Given the description of an element on the screen output the (x, y) to click on. 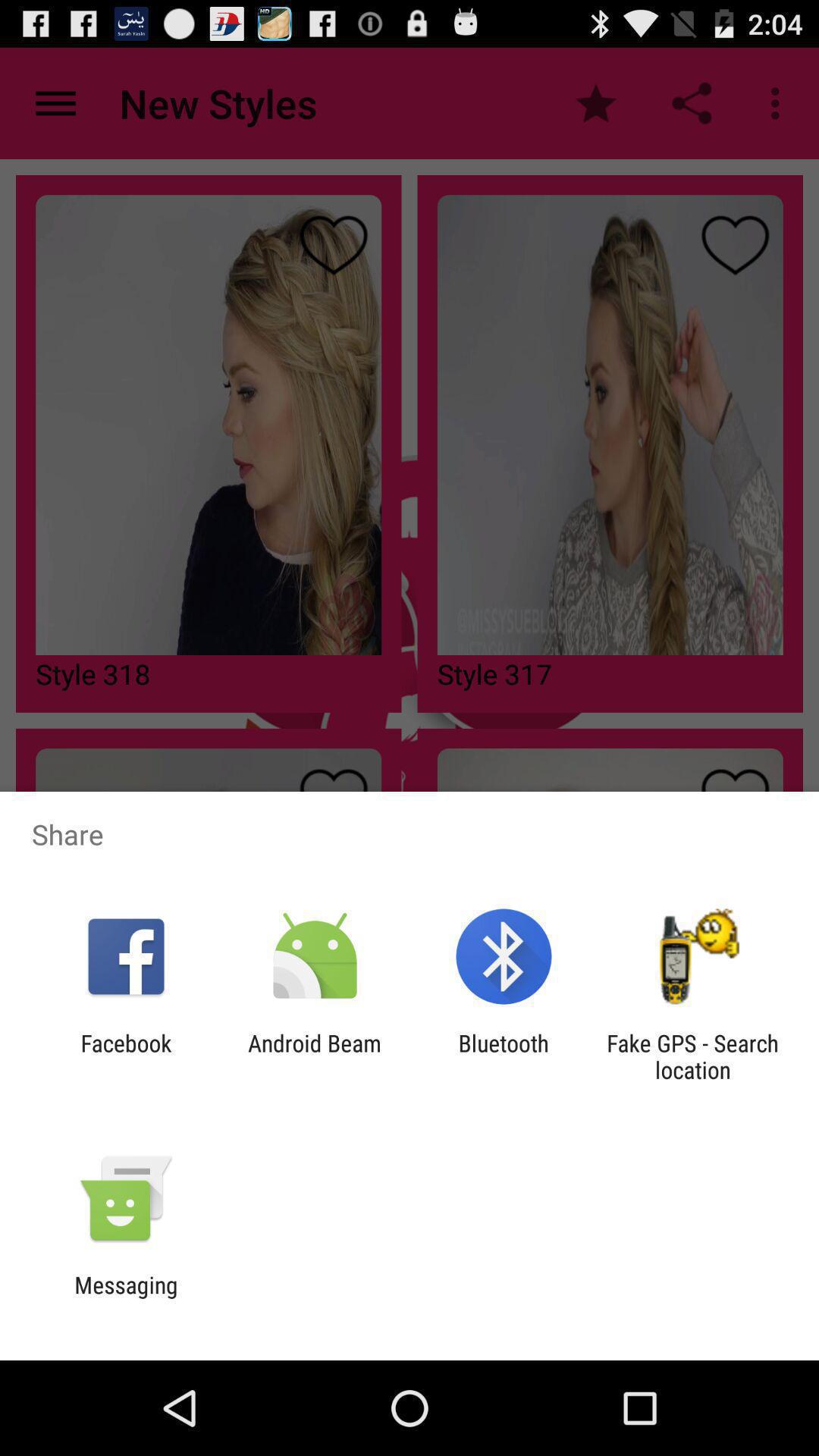
turn on the item next to the bluetooth item (314, 1056)
